Given the description of an element on the screen output the (x, y) to click on. 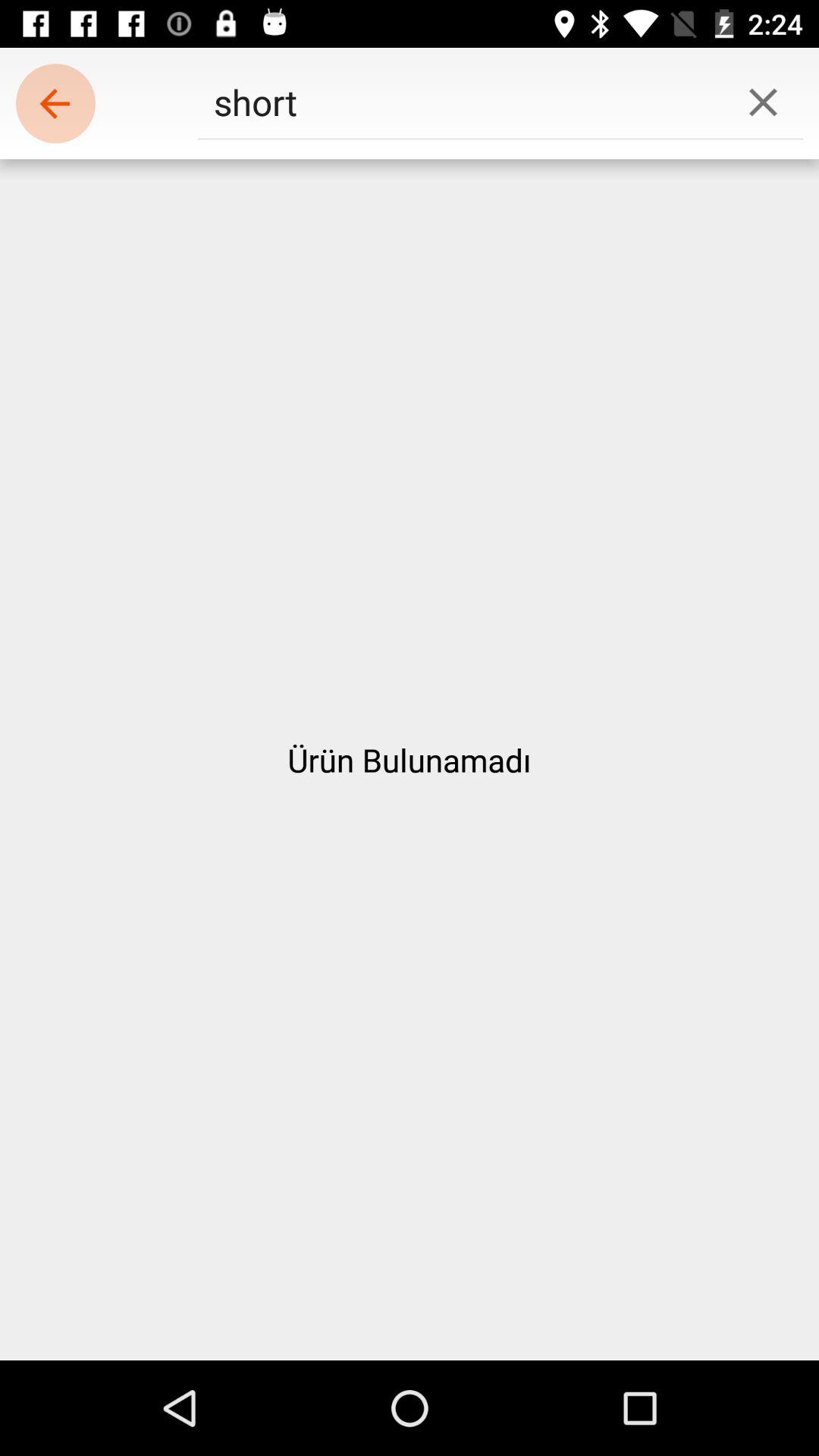
select the icon at the top right corner (763, 102)
